Given the description of an element on the screen output the (x, y) to click on. 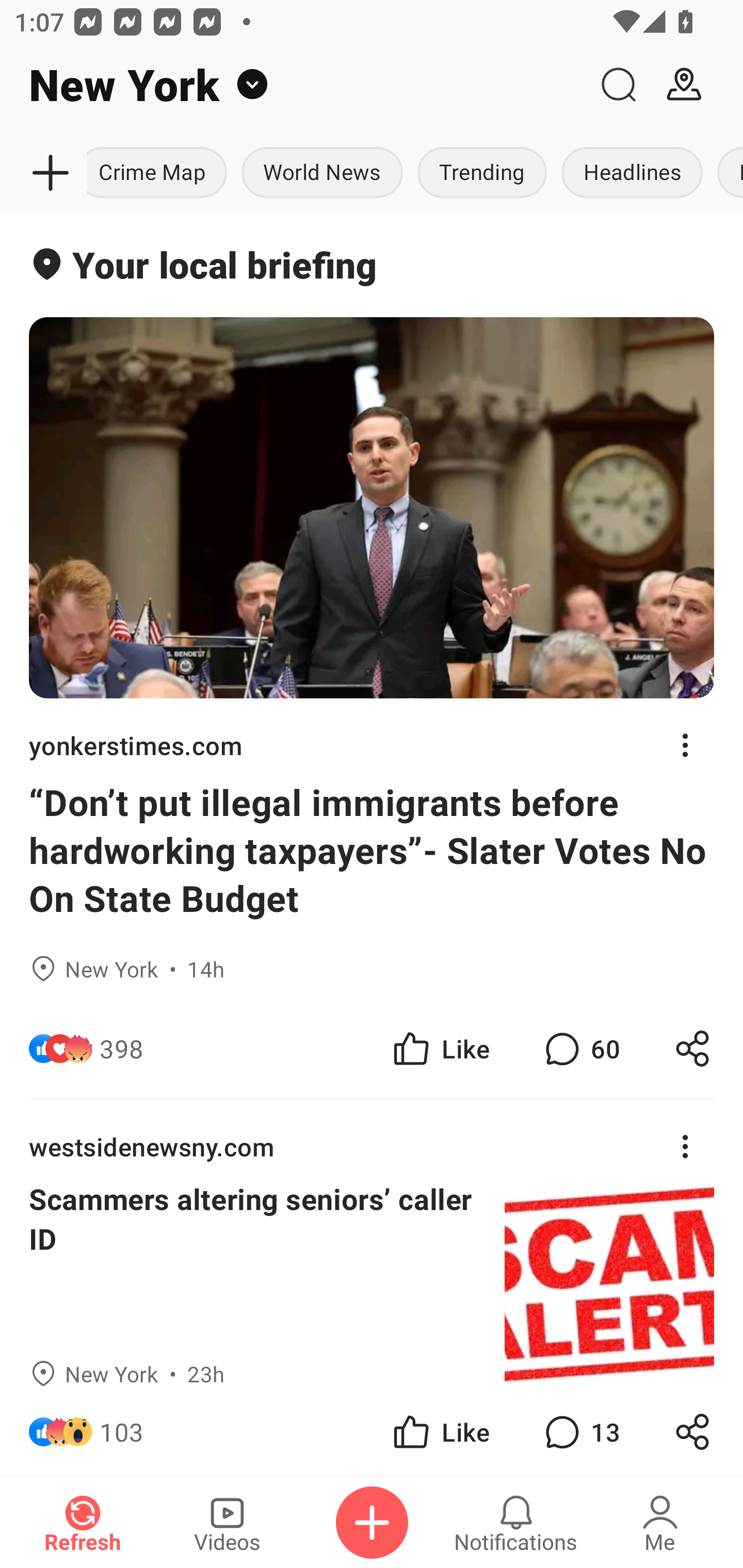
New York (292, 84)
Crime Map (160, 172)
World News (322, 172)
Trending (482, 172)
Headlines (632, 172)
398 (121, 1048)
Like (439, 1048)
60 (579, 1048)
103 (121, 1432)
Like (439, 1432)
13 (579, 1432)
Videos (227, 1522)
Notifications (516, 1522)
Me (659, 1522)
